Given the description of an element on the screen output the (x, y) to click on. 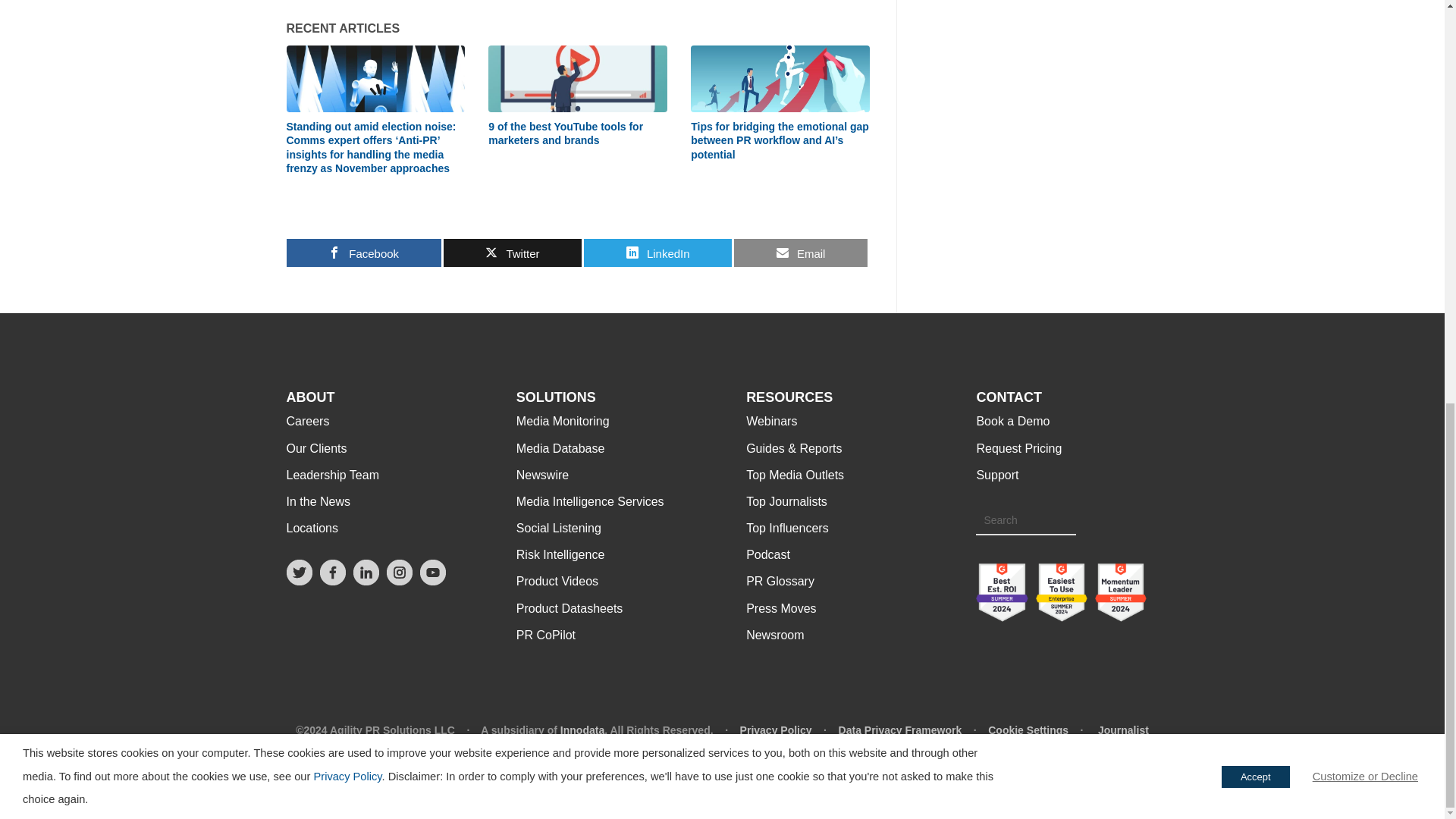
Product Videos (557, 581)
LinkedIn (365, 580)
Facebook (333, 580)
Instagram (399, 580)
Twitter (299, 580)
Product Datasheets (569, 608)
PR CoPilot (545, 634)
YouTube (432, 580)
